Given the description of an element on the screen output the (x, y) to click on. 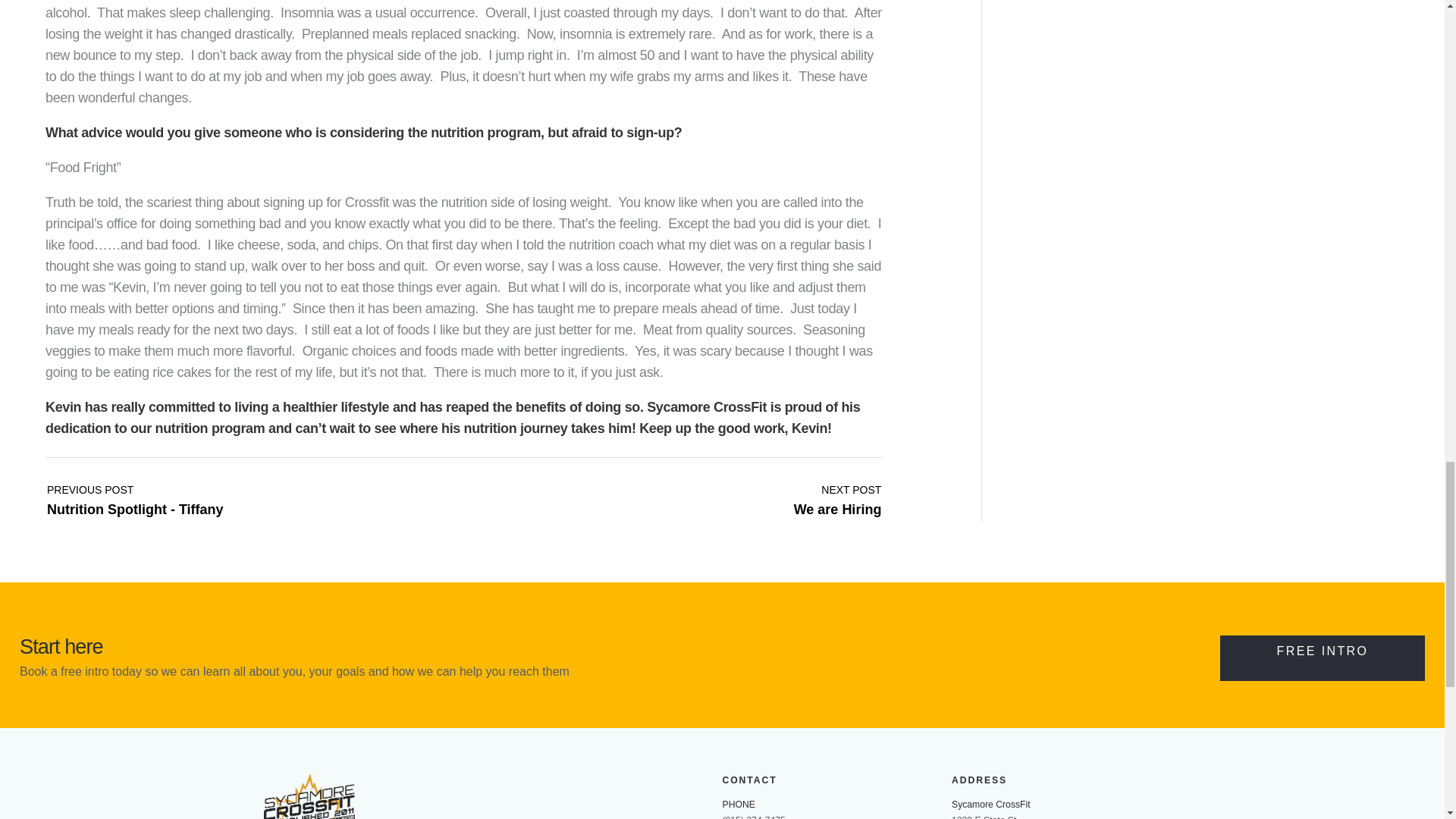
Nutrition Spotlight - Tiffany (135, 634)
FREE INTRO (837, 634)
We are Hiring (1322, 796)
